Given the description of an element on the screen output the (x, y) to click on. 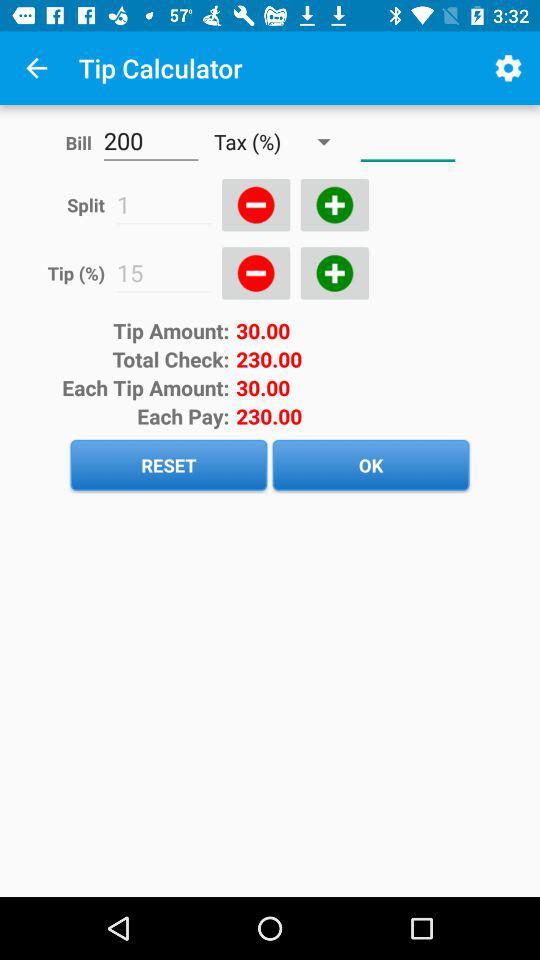
increase amount (334, 273)
